Given the description of an element on the screen output the (x, y) to click on. 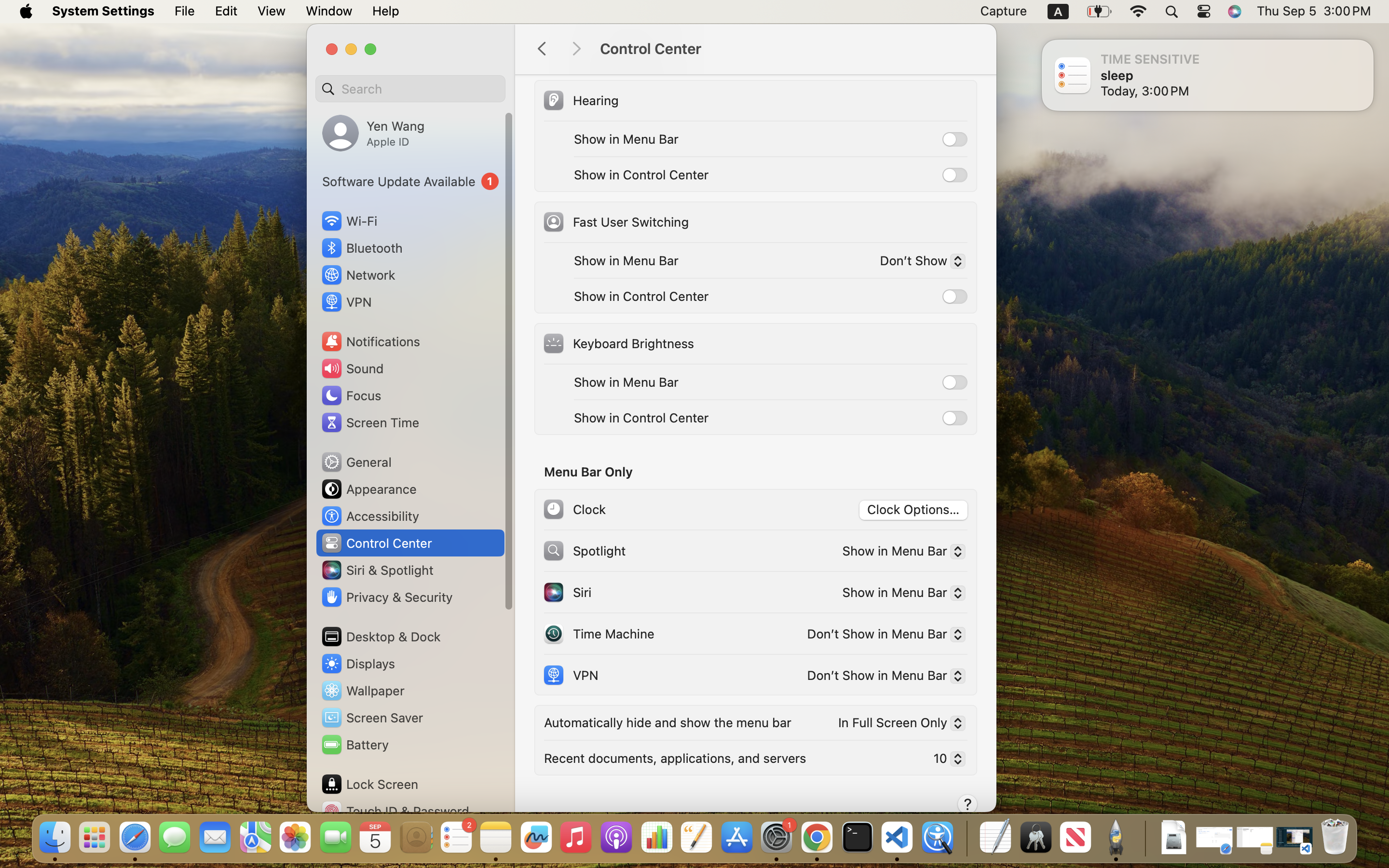
Screen Time Element type: AXStaticText (369, 422)
VPN Element type: AXStaticText (570, 674)
Desktop & Dock Element type: AXStaticText (380, 636)
Privacy & Security Element type: AXStaticText (386, 596)
10 Element type: AXPopUpButton (945, 760)
